Given the description of an element on the screen output the (x, y) to click on. 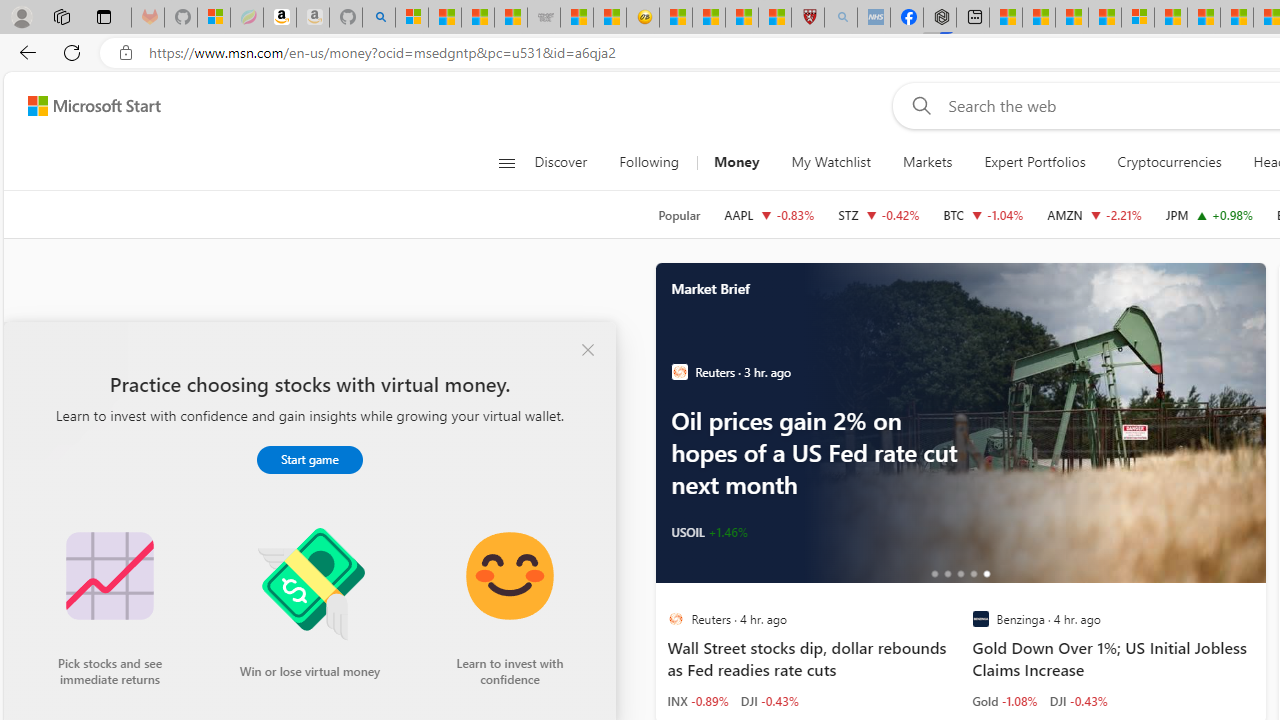
INTC -6.12% (704, 532)
Back (24, 52)
Discover (568, 162)
Workspaces (61, 16)
JPM JPMORGAN CHASE & CO. increase 216.71 +2.11 +0.98% (1209, 214)
AMZN AMAZON.COM, INC. decrease 176.13 -3.98 -2.21% (1094, 214)
Microsoft Start (1170, 17)
DJI -0.43% (1078, 700)
Class: button-glyph (505, 162)
Stocks - MSN (511, 17)
